Given the description of an element on the screen output the (x, y) to click on. 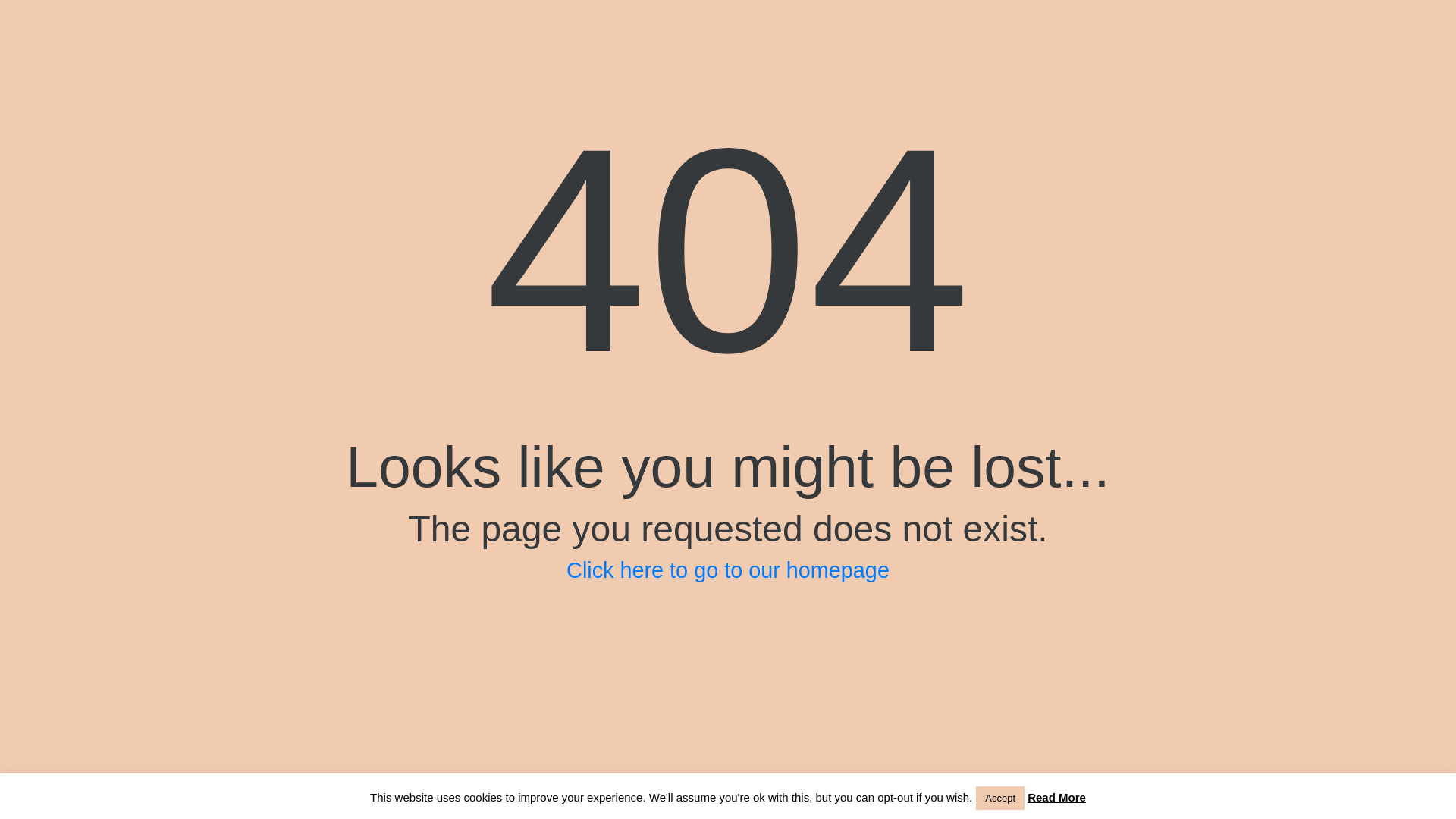
Accept (1000, 797)
Click here to go to our homepage (727, 569)
Read More (1056, 797)
